Given the description of an element on the screen output the (x, y) to click on. 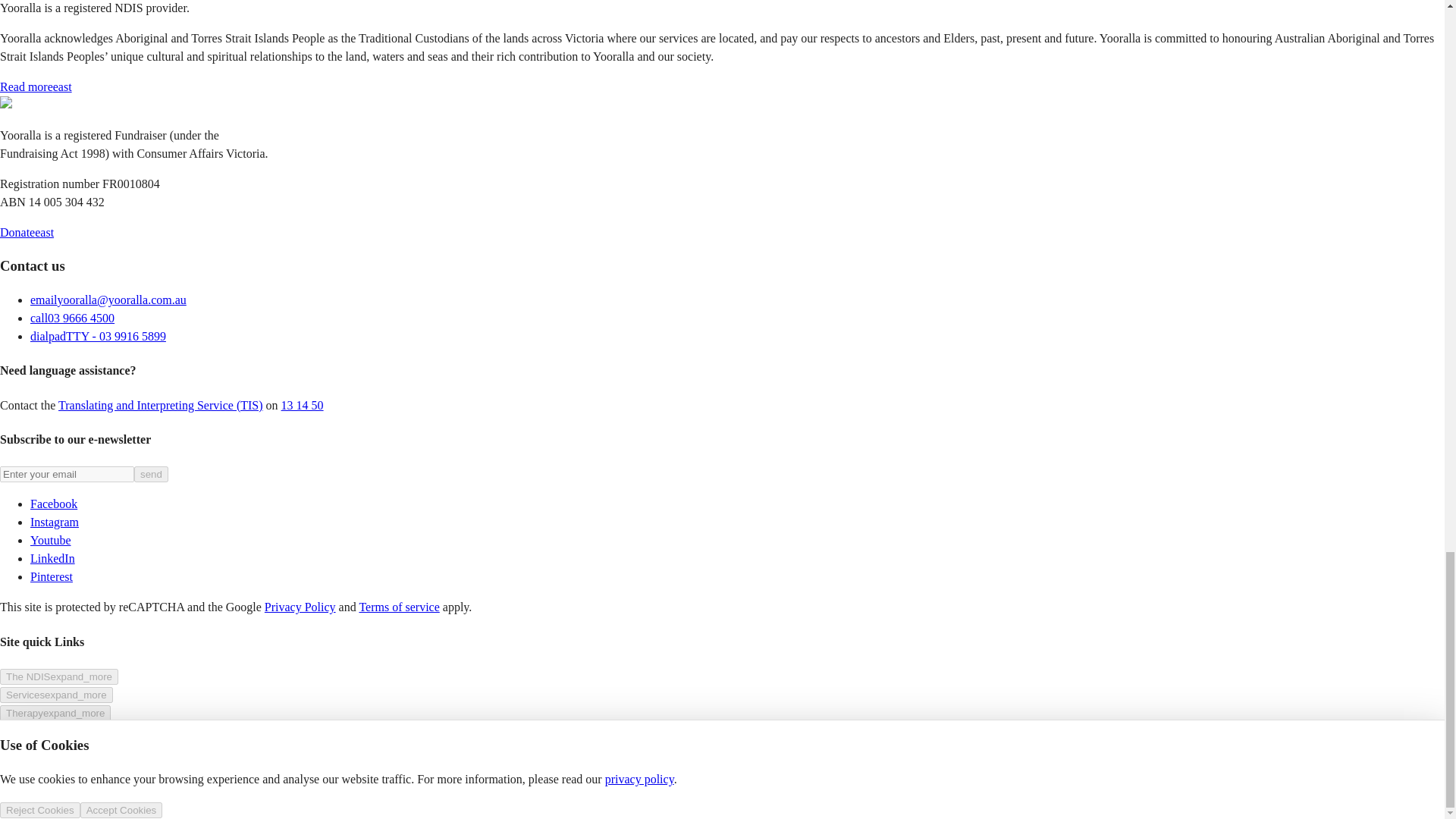
Instagram (54, 521)
Youtube (50, 540)
Facebook (53, 503)
call03 9666 4500 (72, 318)
send (150, 474)
Donateeast (26, 232)
Read moreeast (35, 86)
Pinterest (51, 576)
LinkedIn (52, 558)
13 14 50 (302, 404)
